Given the description of an element on the screen output the (x, y) to click on. 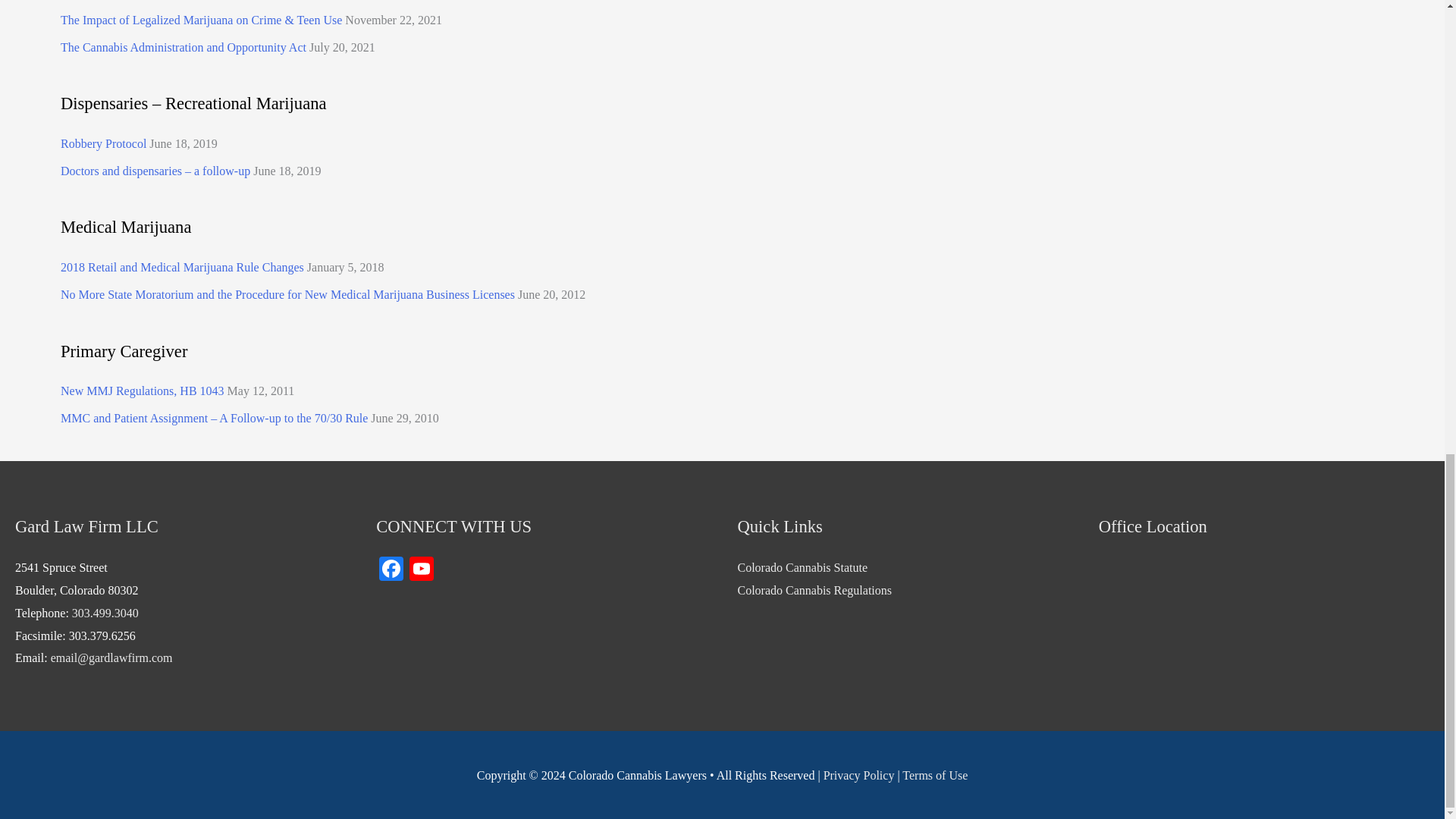
Terms of Use (935, 775)
YouTube (421, 570)
The Cannabis Administration and Opportunity Act (183, 47)
New MMJ Regulations, HB 1043 (142, 390)
2018 Retail and Medical Marijuana Rule Changes (182, 267)
Facebook (390, 570)
Colorado Cannabis Statute (801, 567)
303.499.3040 (104, 612)
Colorado Cannabis Regulations (813, 590)
Facebook (390, 570)
YouTube (421, 570)
Robbery Protocol (104, 143)
Privacy Policy (859, 775)
